Given the description of an element on the screen output the (x, y) to click on. 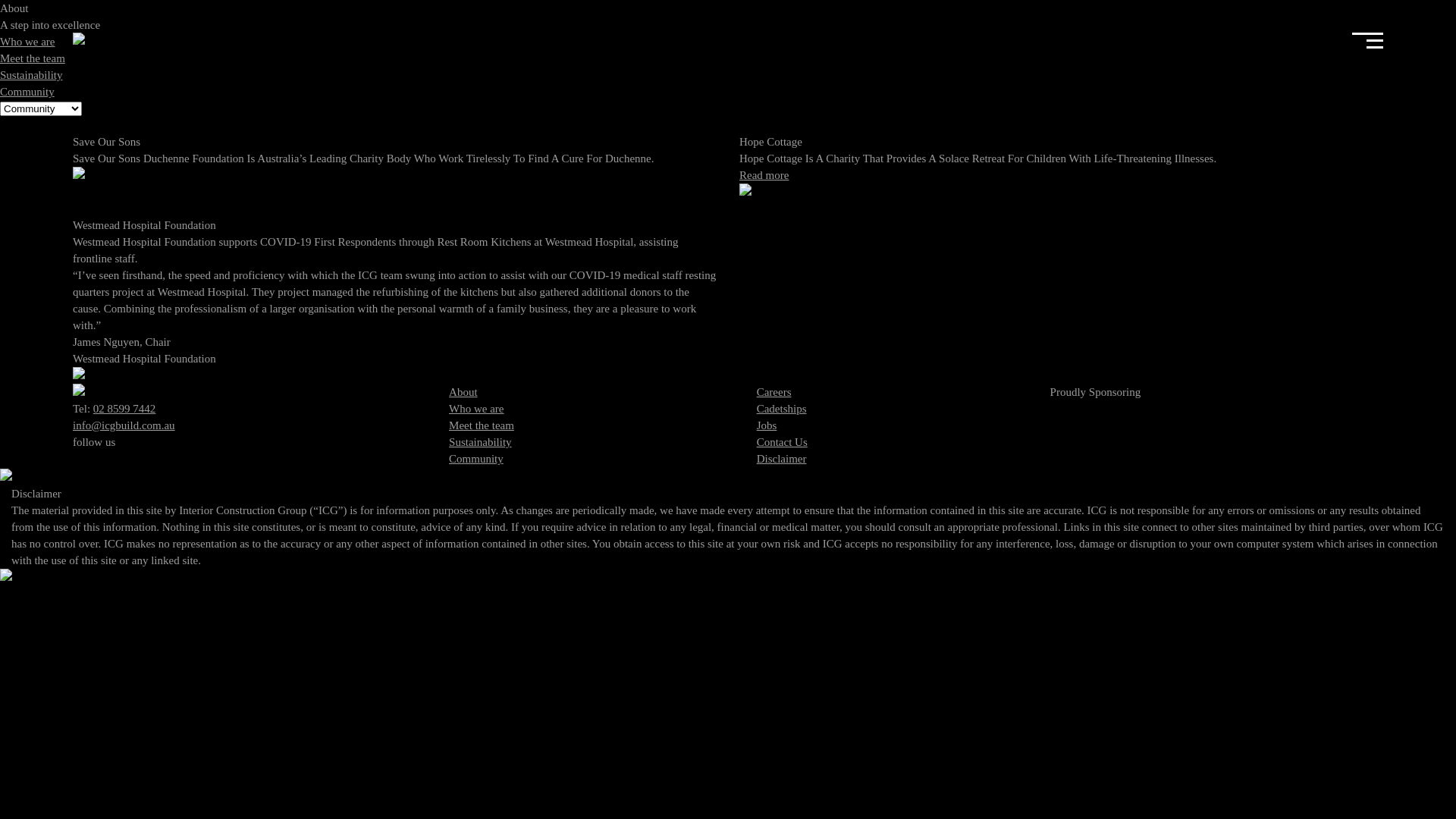
Cadetships Element type: text (781, 408)
About Element type: text (462, 391)
Community Element type: text (475, 458)
Jobs Element type: text (766, 425)
info@icgbuild.com.au Element type: text (123, 425)
Sustainability Element type: text (479, 442)
Community Element type: text (27, 91)
Who we are Element type: text (27, 41)
Read more Element type: text (763, 175)
Disclaimer Element type: text (781, 458)
Meet the team Element type: text (481, 425)
Careers Element type: text (773, 391)
Contact Us Element type: text (781, 442)
Who we are Element type: text (475, 408)
Sustainability Element type: text (31, 75)
Meet the team Element type: text (32, 58)
02 8599 7442 Element type: text (124, 408)
